Given the description of an element on the screen output the (x, y) to click on. 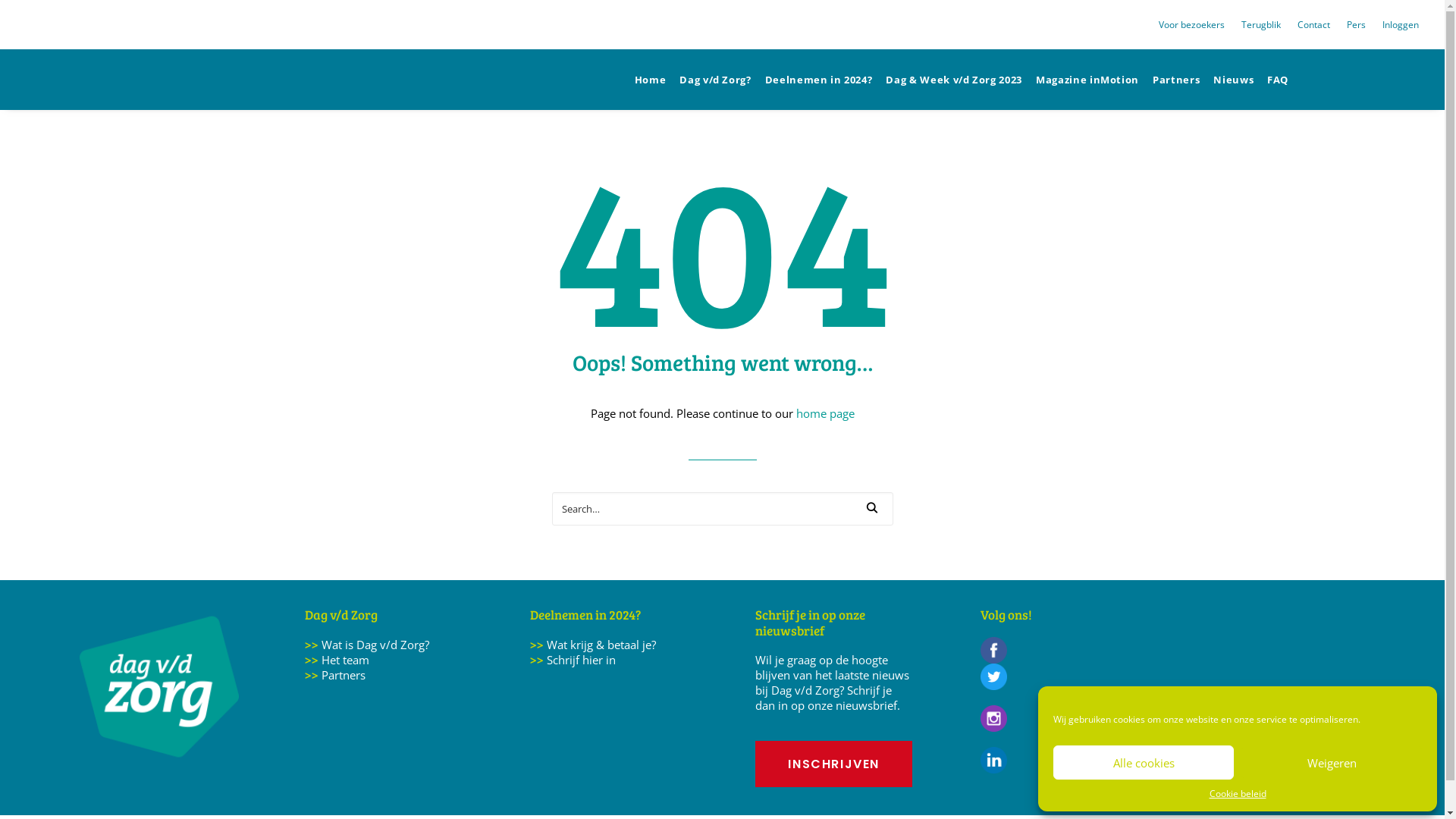
home page Element type: text (825, 412)
Partners Element type: text (1175, 79)
Weigeren Element type: text (1331, 762)
Alle cookies Element type: text (1143, 762)
Magazine inMotion Element type: text (1087, 79)
Deelnemen in 2024? Element type: text (818, 79)
Contact Element type: text (1313, 24)
FAQ Element type: text (1274, 79)
Partners Element type: text (343, 674)
Het team  Element type: text (346, 659)
Inloggen Element type: text (1396, 24)
INSCHRIJVEN Element type: text (833, 763)
Nieuws Element type: text (1233, 79)
Terugblik Element type: text (1260, 24)
Dag & Week v/d Zorg 2023 Element type: text (953, 79)
Search for: Element type: hover (722, 508)
Voor bezoekers Element type: text (1194, 24)
Dag v/d Zorg? Element type: text (714, 79)
Cookie beleid Element type: text (1236, 793)
Wat krijg & betaal je? Element type: text (600, 644)
Pers Element type: text (1355, 24)
Schrijf hier in Element type: text (580, 659)
Wat is Dag v/d Zorg? Element type: text (375, 644)
Home Element type: text (653, 79)
